Given the description of an element on the screen output the (x, y) to click on. 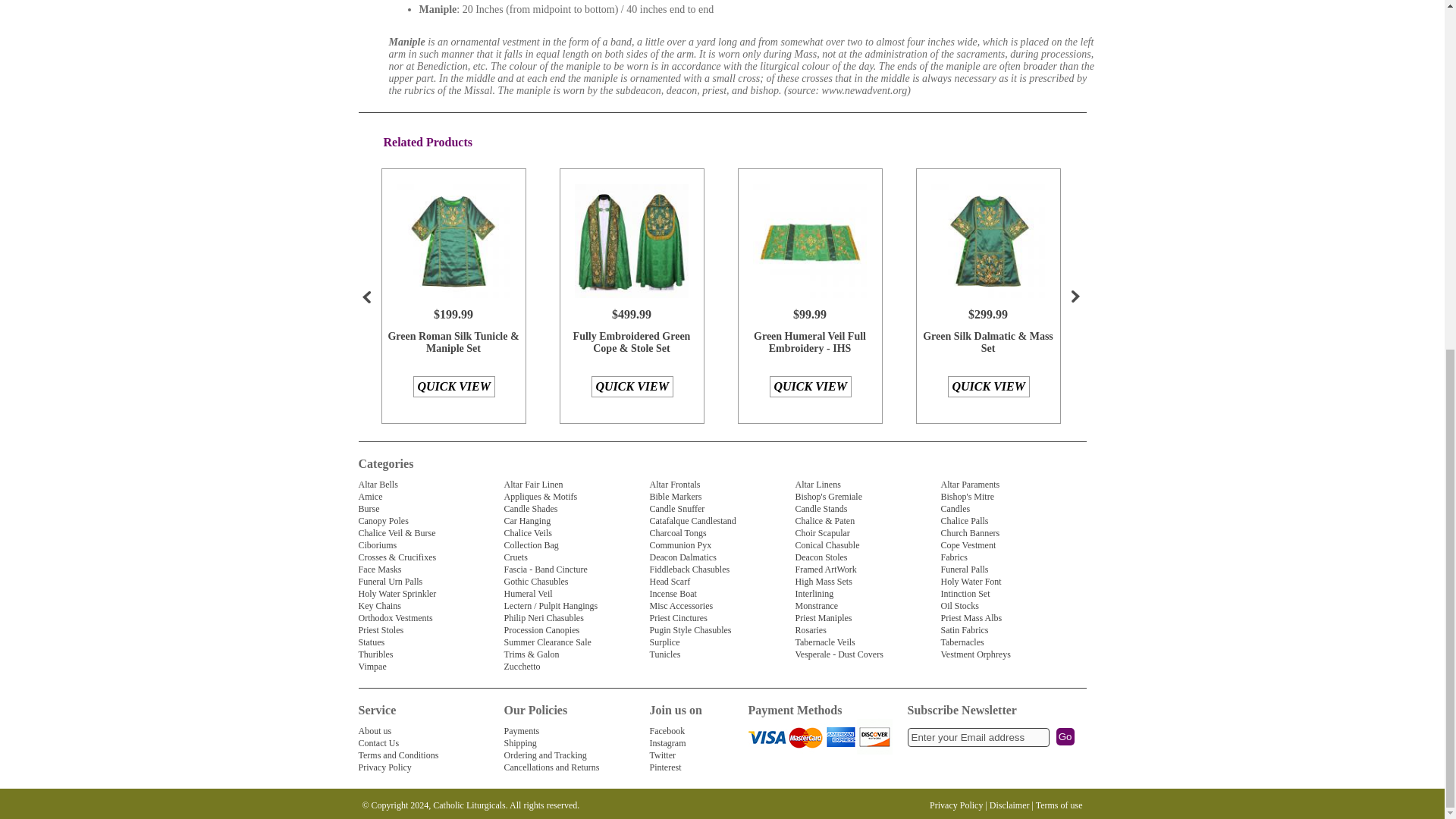
Enter your Email address (977, 737)
